Given the description of an element on the screen output the (x, y) to click on. 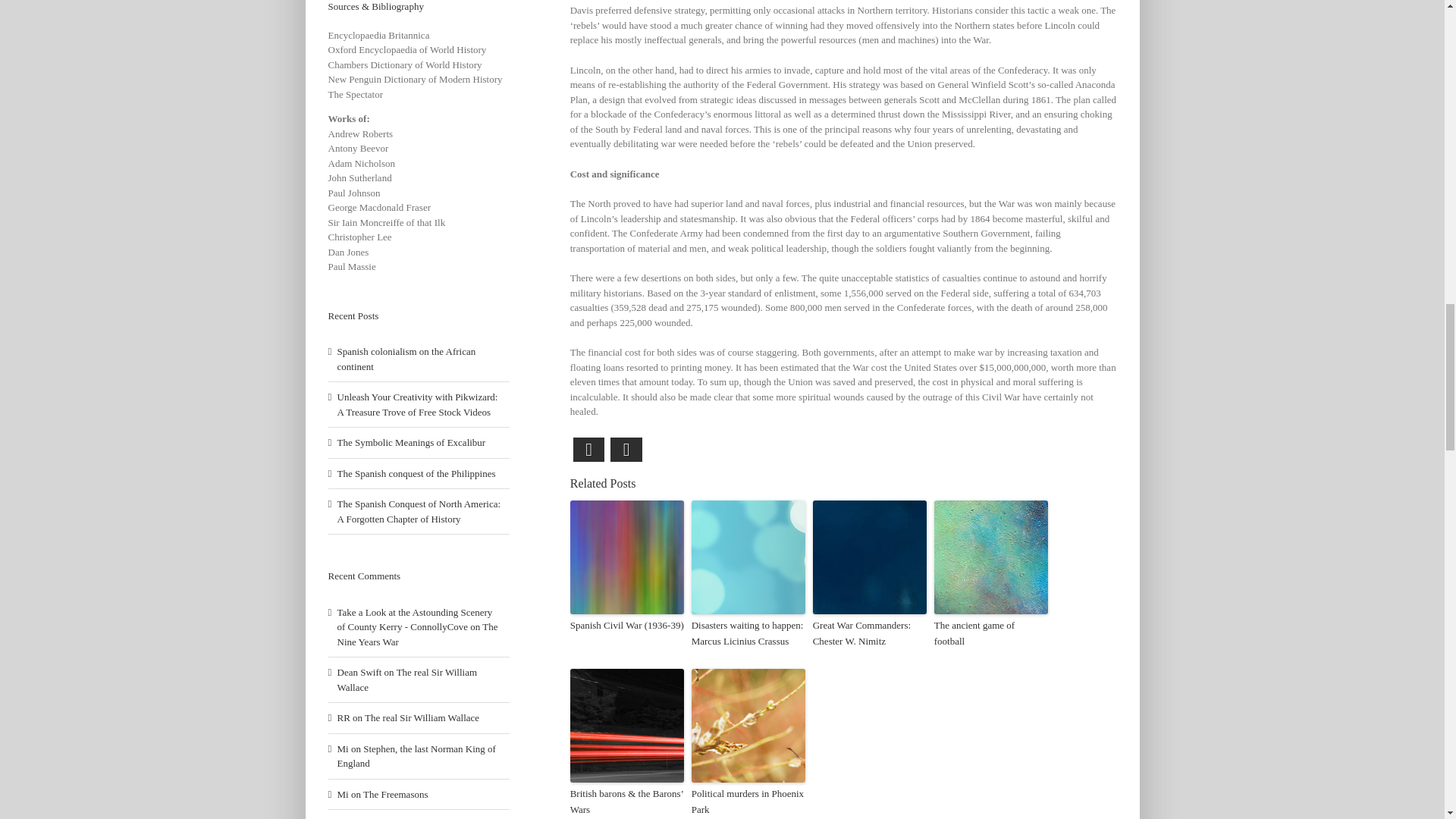
Share this article on X (626, 448)
Share this article on Facebook (589, 448)
